Given the description of an element on the screen output the (x, y) to click on. 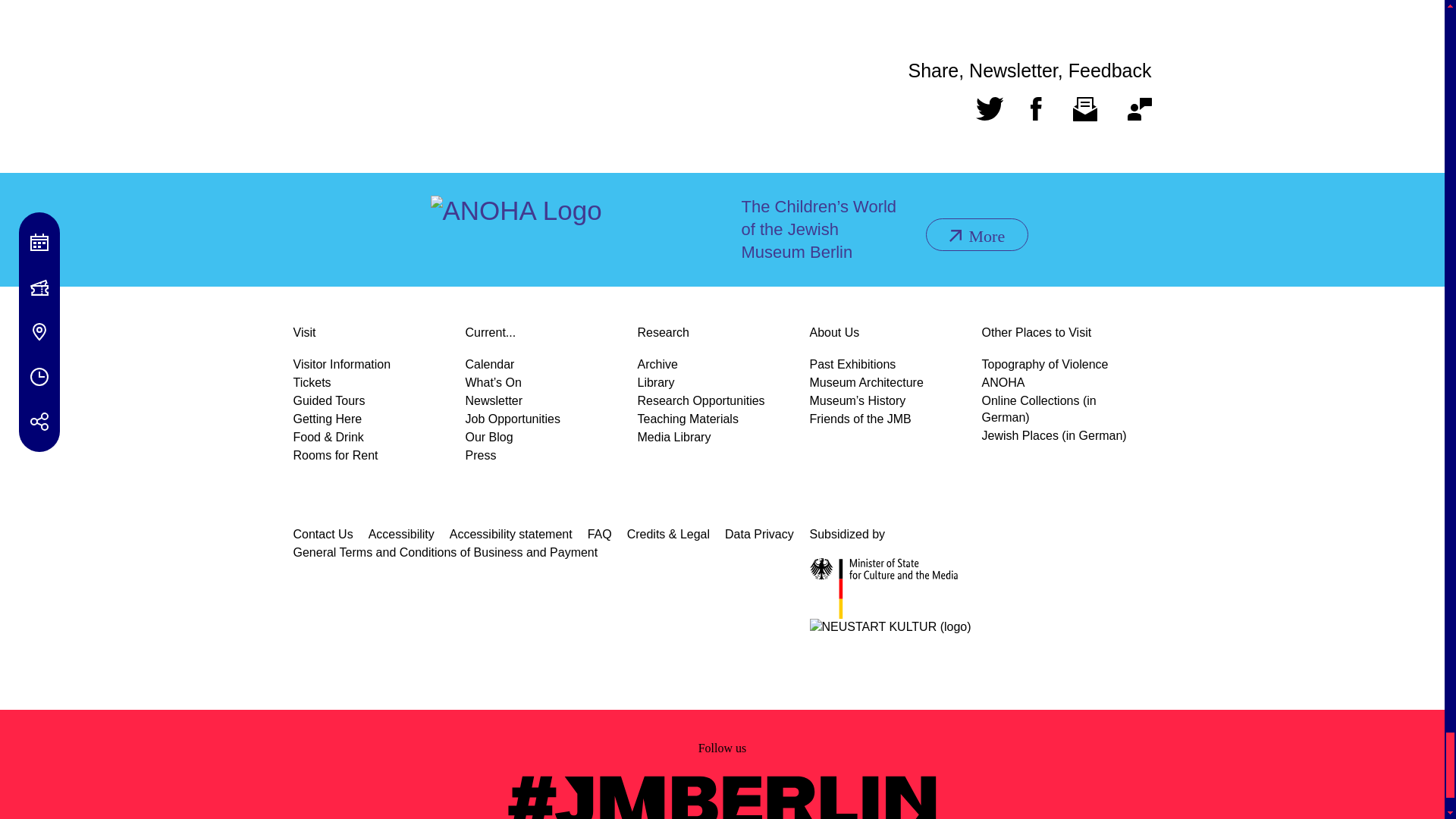
Share on Twitter (989, 115)
Subscribe to the newsletter (1083, 115)
Contact us (1138, 115)
